Given the description of an element on the screen output the (x, y) to click on. 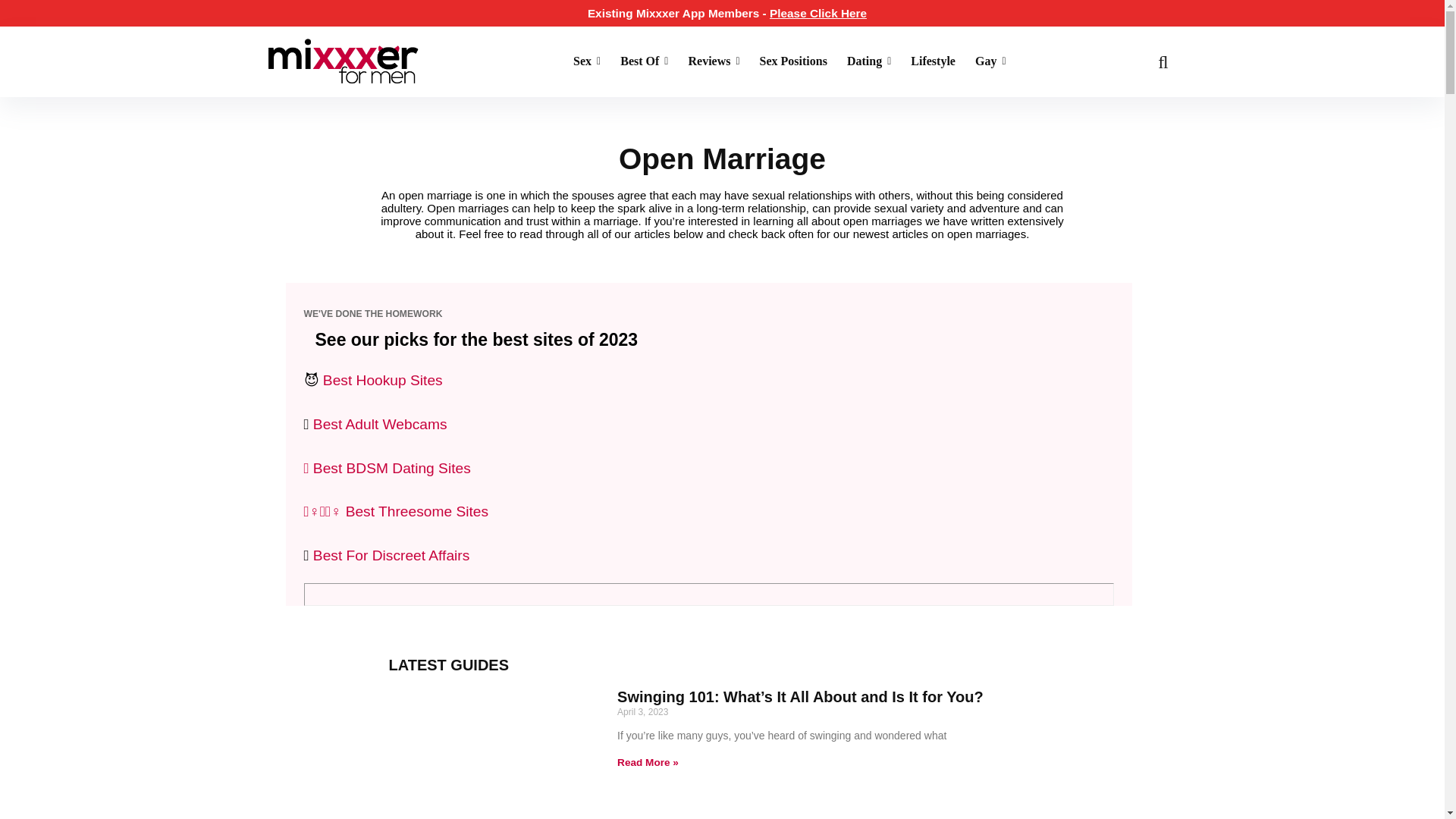
Sex Positions (793, 61)
Best Of (644, 61)
Best Adult Webcams (379, 424)
Existing Mixxxer App Members - Please Click Here (727, 12)
Dating (869, 61)
Best Hookup Sites (380, 380)
Sex (586, 61)
Lifestyle (933, 61)
Reviews (713, 61)
Gay (990, 61)
